Given the description of an element on the screen output the (x, y) to click on. 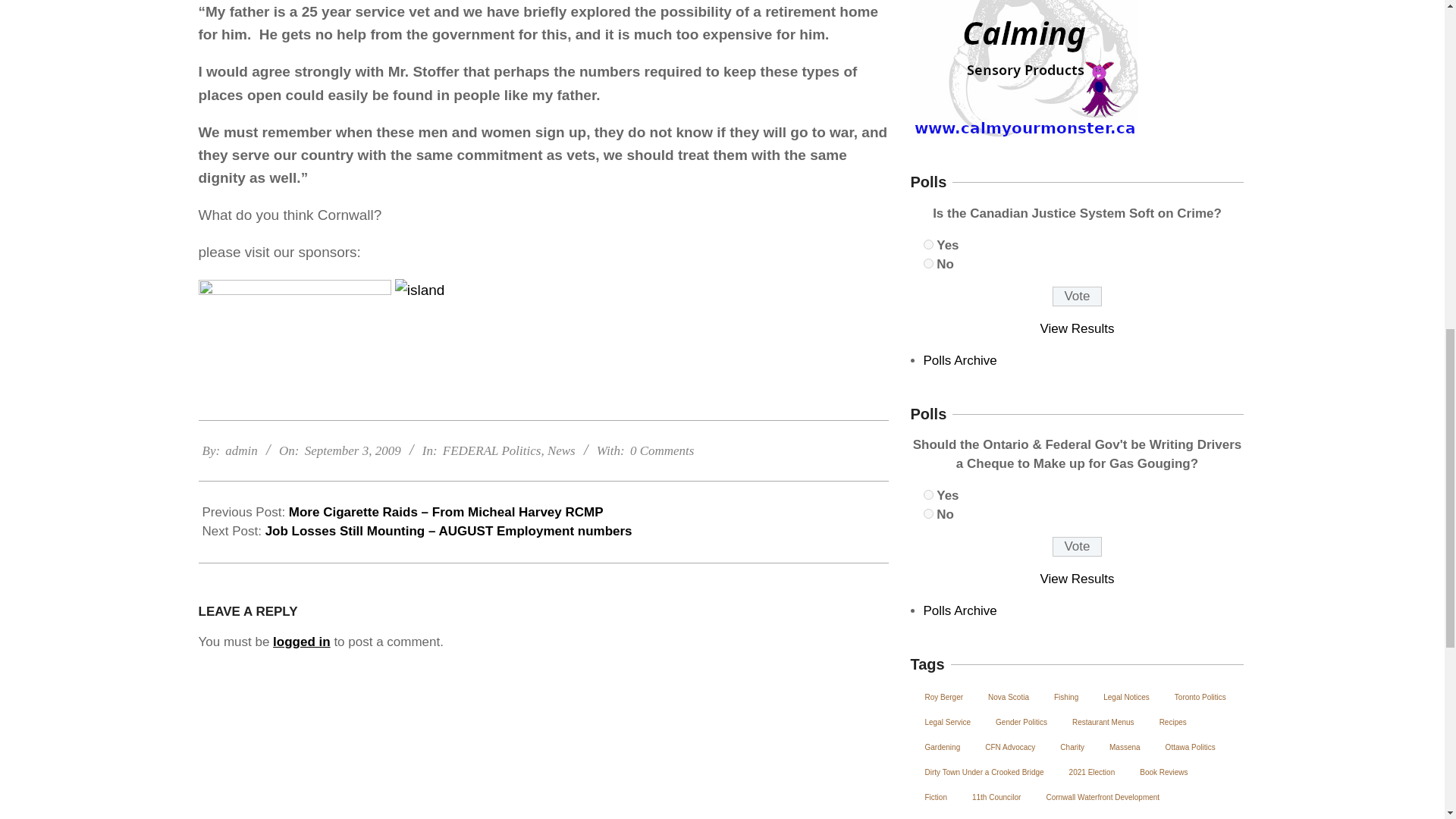
   Vote    (1076, 546)
1755 (928, 263)
View Results Of This Poll (1078, 328)
1754 (928, 244)
Posts by admin (241, 450)
1762 (928, 494)
island (481, 330)
View Results Of This Poll (1078, 578)
   Vote    (1076, 296)
1763 (928, 513)
Thursday, September 3, 2009, 4:17 pm (352, 450)
